Given the description of an element on the screen output the (x, y) to click on. 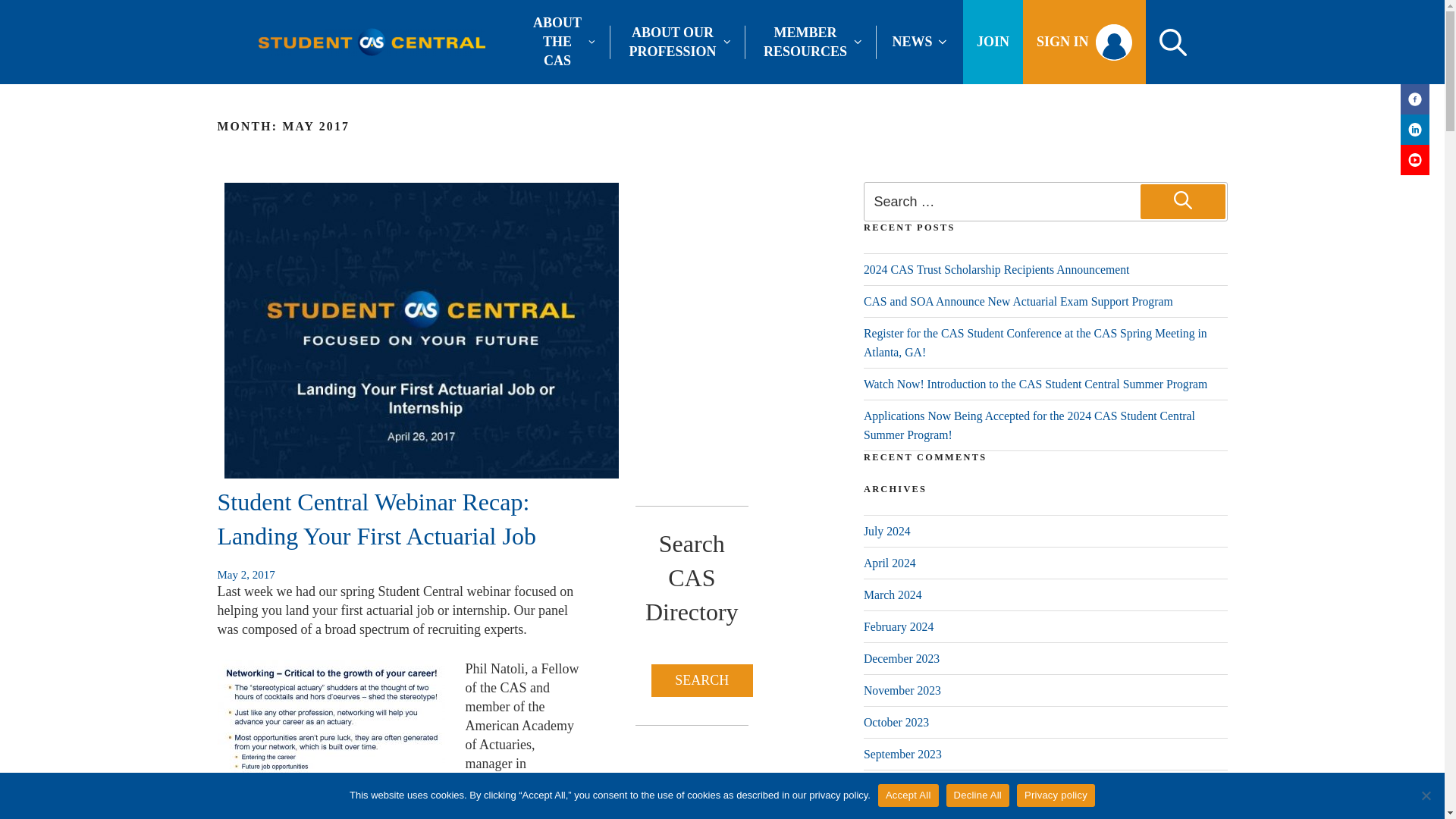
Decline All (1425, 795)
MEMBER RESOURCES (809, 41)
NEWS (918, 41)
SIGN IN (1084, 42)
ABOUT OUR PROFESSION (676, 41)
ABOUT THE CAS (560, 42)
JOIN (992, 41)
cas-logo (370, 41)
